Given the description of an element on the screen output the (x, y) to click on. 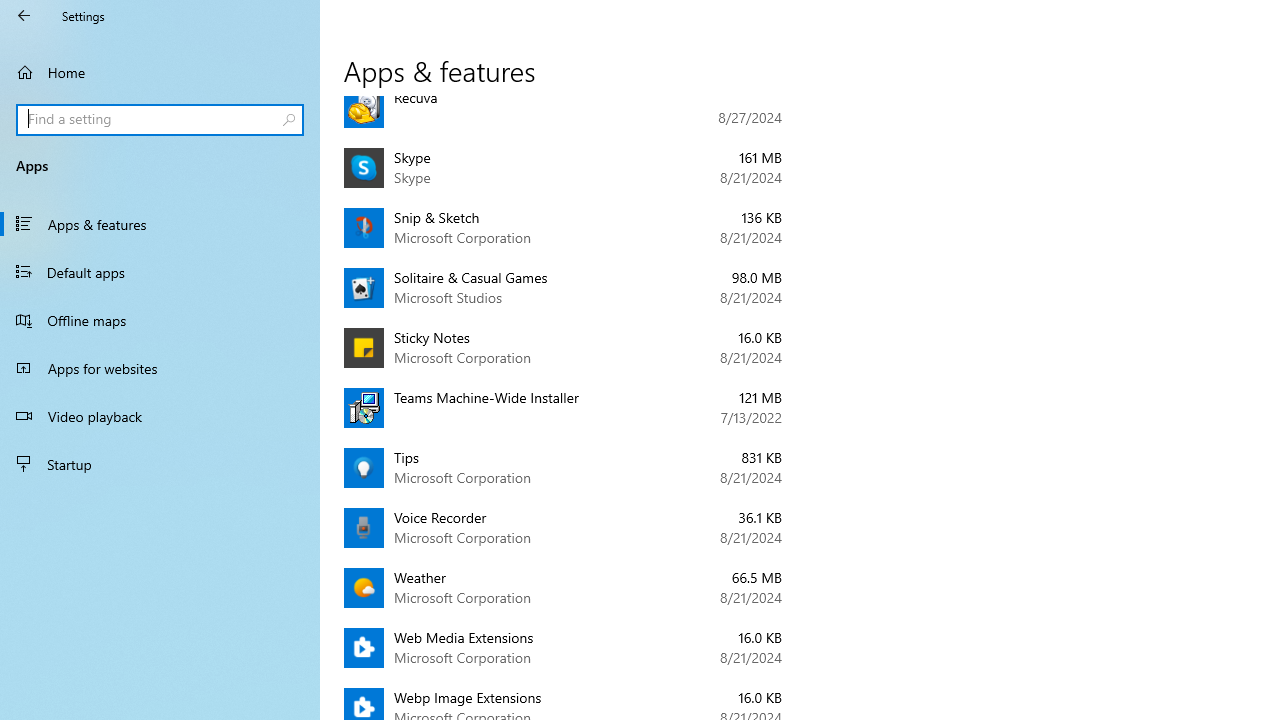
Default apps (160, 271)
Search box, Find a setting (160, 119)
